Given the description of an element on the screen output the (x, y) to click on. 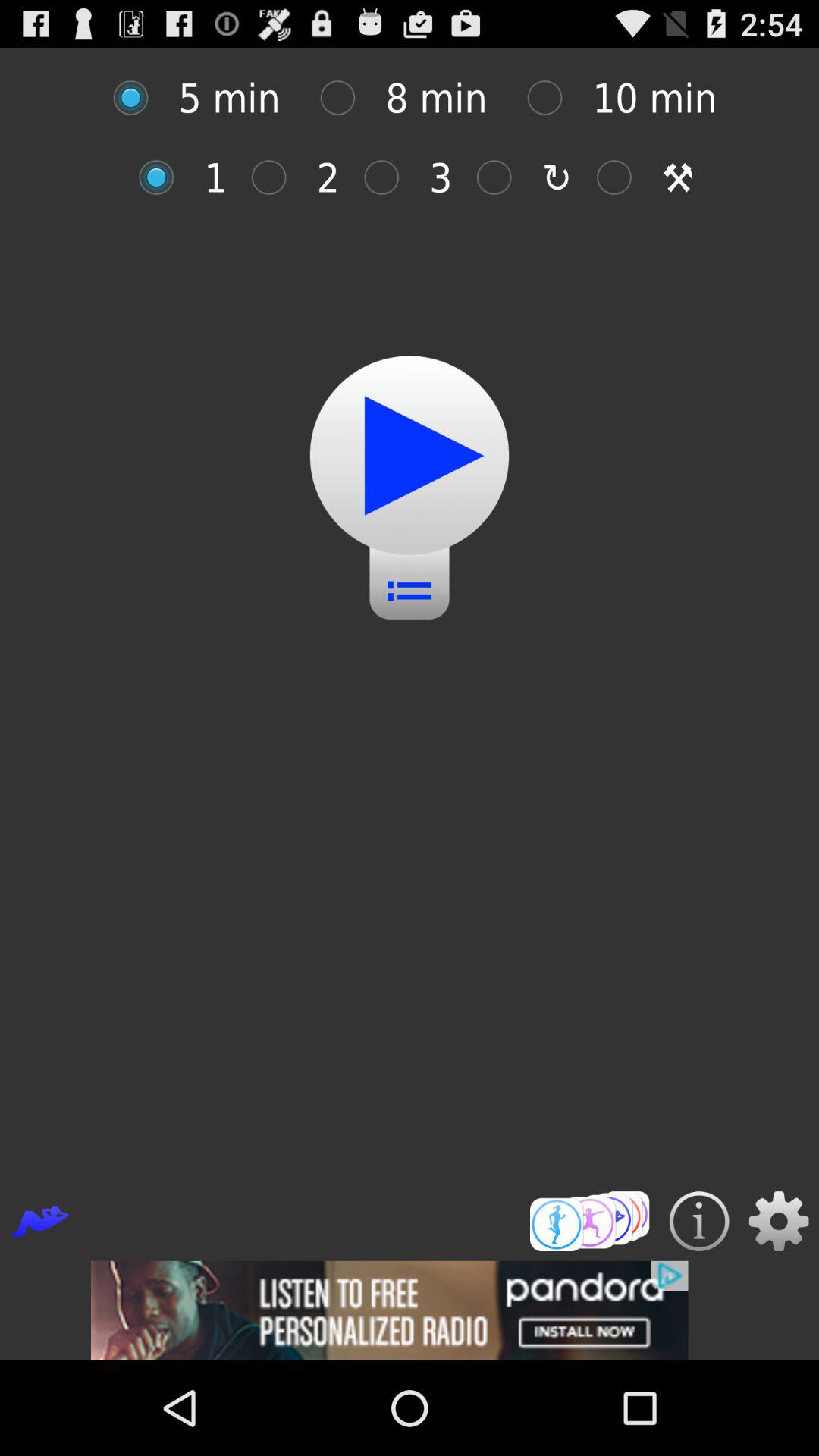
go to icon (622, 177)
